Given the description of an element on the screen output the (x, y) to click on. 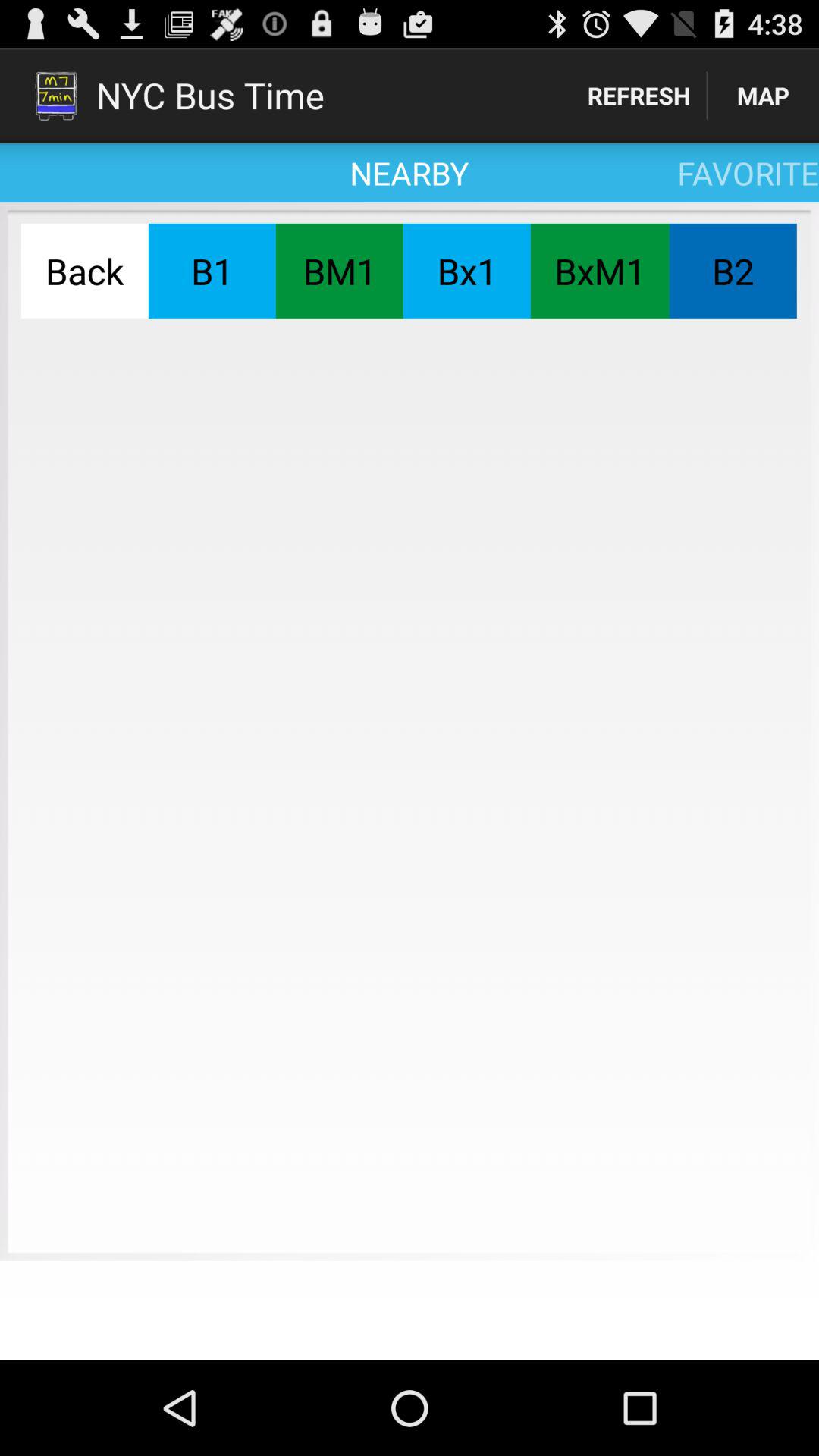
turn off app to the right of the nearby icon (638, 95)
